Given the description of an element on the screen output the (x, y) to click on. 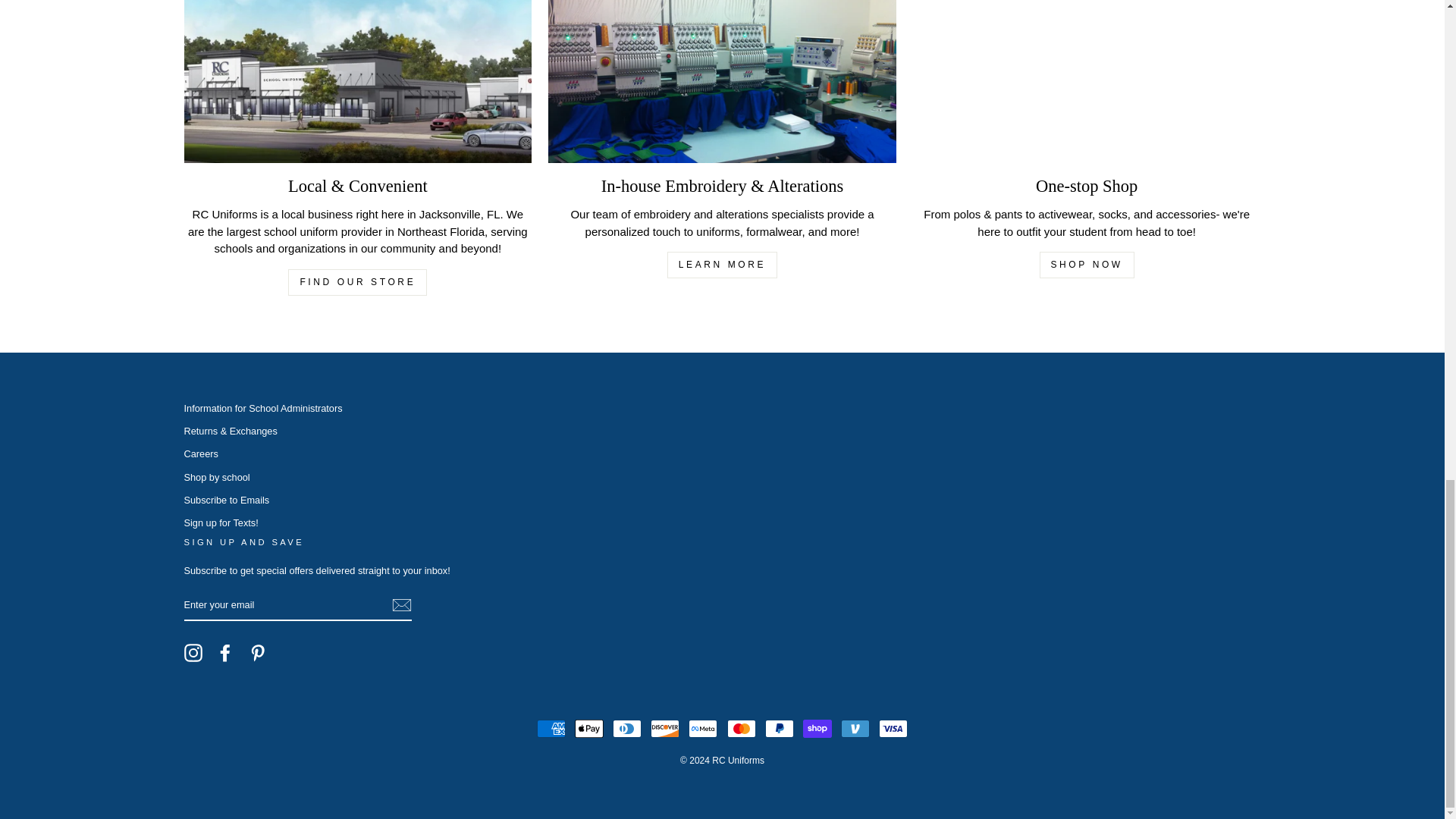
RC Uniforms on Pinterest (257, 652)
American Express (551, 728)
Apple Pay (589, 728)
RC Uniforms on Instagram (192, 652)
RC Uniforms on Facebook (224, 652)
